Given the description of an element on the screen output the (x, y) to click on. 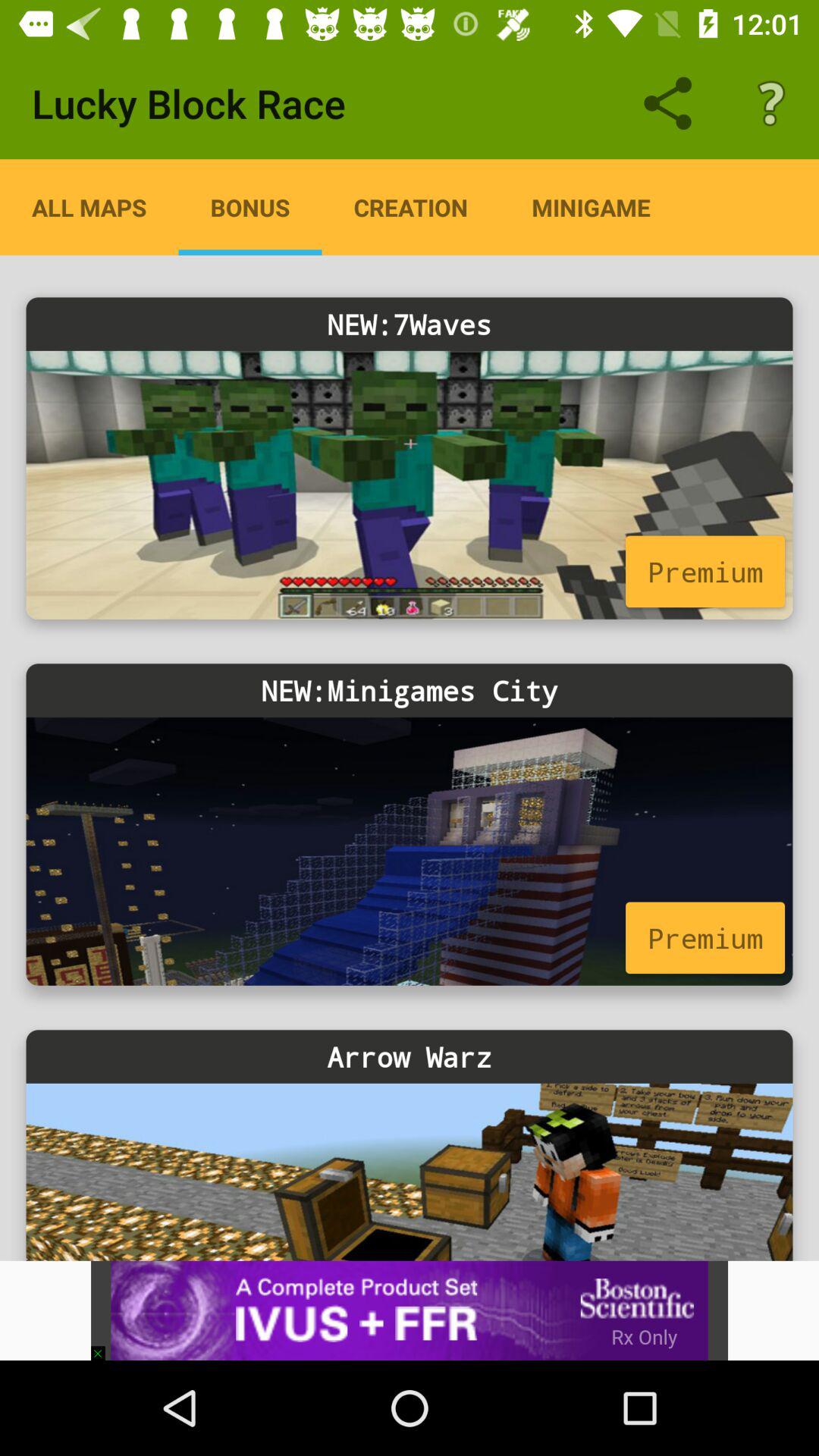
launch the item at the bottom left corner (105, 1346)
